Given the description of an element on the screen output the (x, y) to click on. 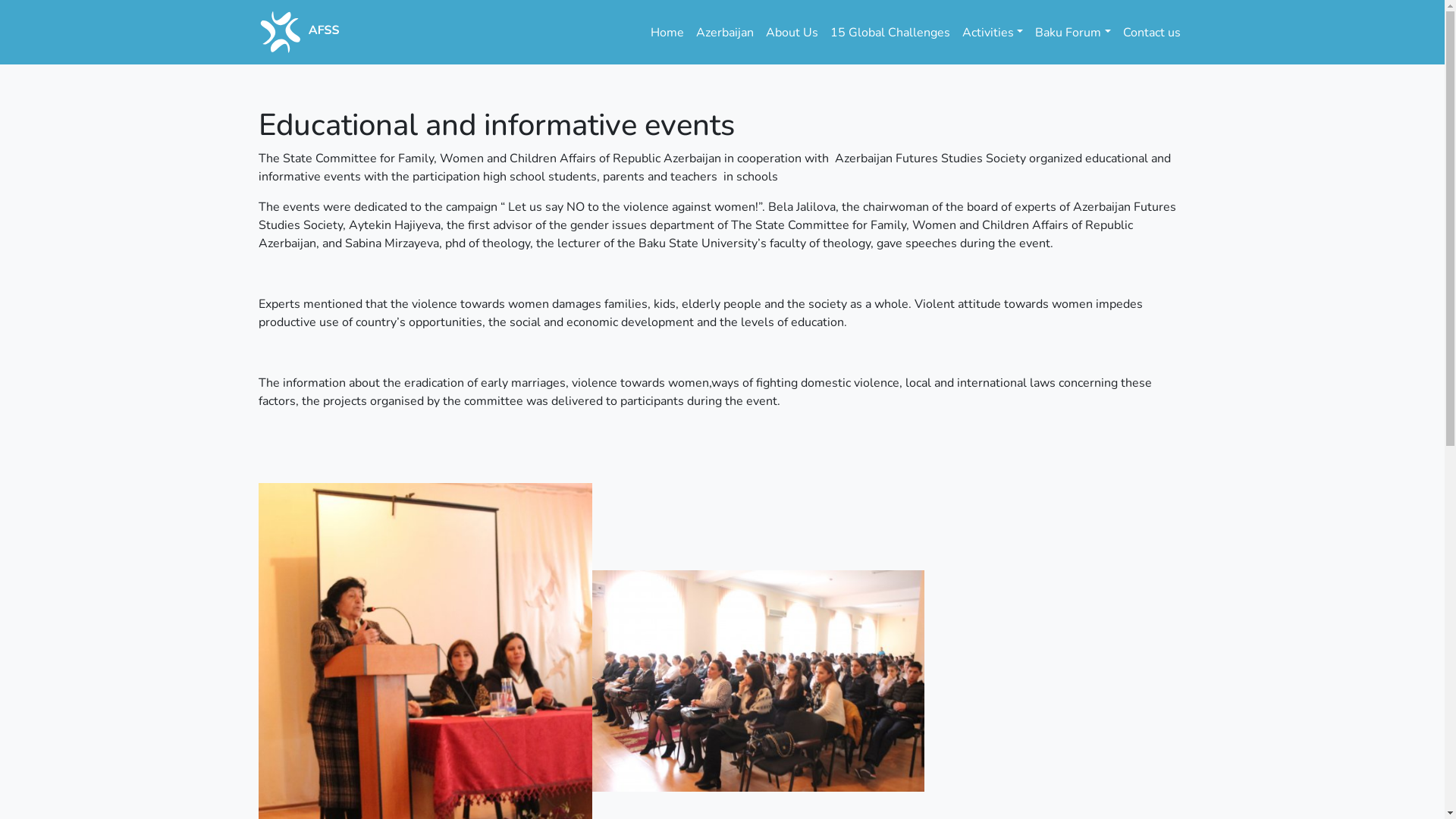
Activities Element type: text (992, 31)
15 Global Challenges Element type: text (890, 31)
About Us Element type: text (791, 31)
Contact us Element type: text (1151, 31)
Azerbaijan Element type: text (724, 31)
Home Element type: text (667, 31)
Baku Forum Element type: text (1072, 31)
